Given the description of an element on the screen output the (x, y) to click on. 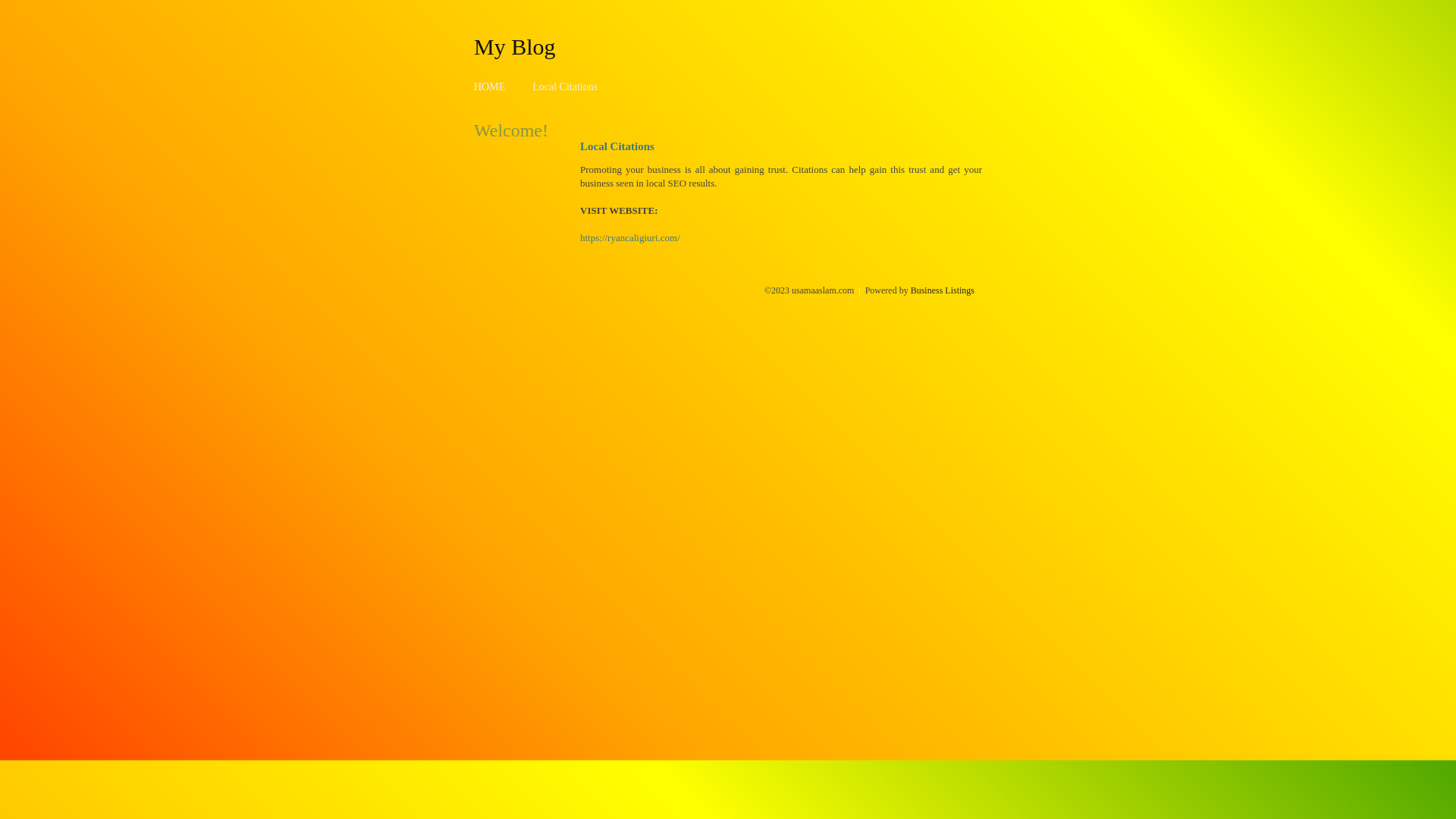
My Blog Element type: text (514, 46)
https://ryancaligiuri.com/ Element type: text (630, 237)
Local Citations Element type: text (564, 86)
Business Listings Element type: text (942, 290)
HOME Element type: text (489, 86)
